Given the description of an element on the screen output the (x, y) to click on. 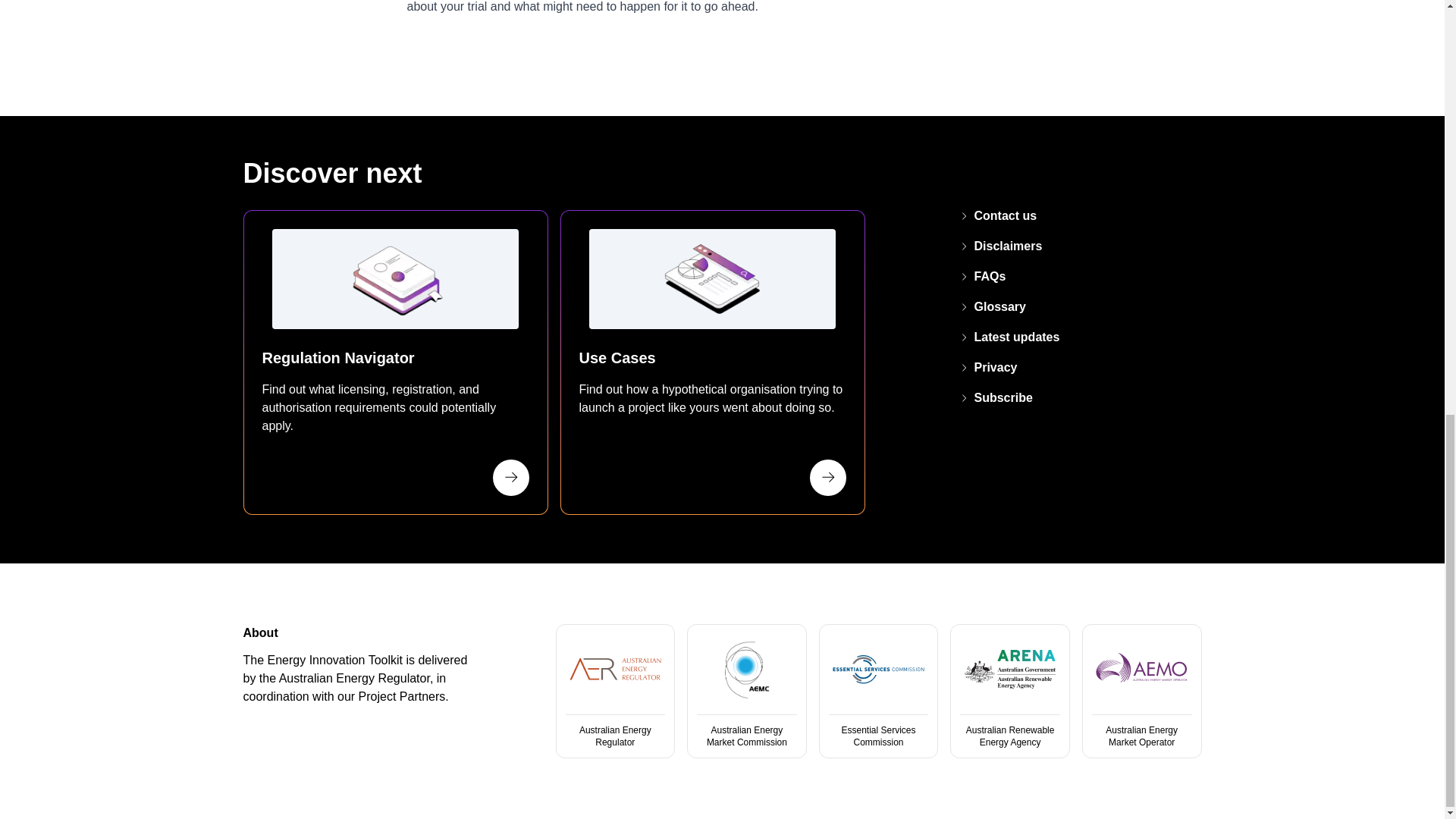
FAQs (983, 276)
Subscribe to our mailing list for updates (996, 397)
Regulation Navigator (395, 361)
Case Studies (711, 361)
